Given the description of an element on the screen output the (x, y) to click on. 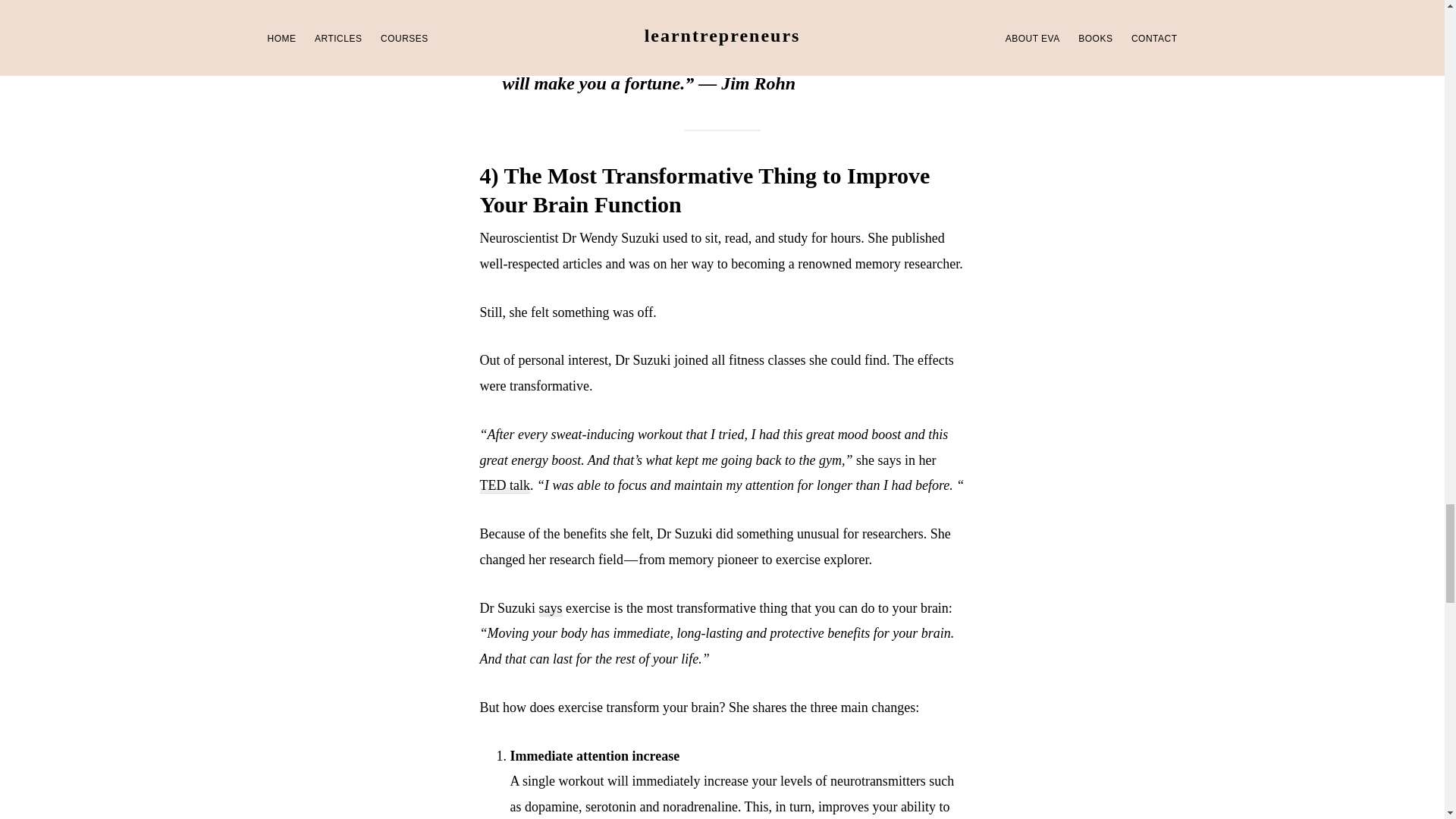
TED talk (504, 485)
says (550, 608)
